Given the description of an element on the screen output the (x, y) to click on. 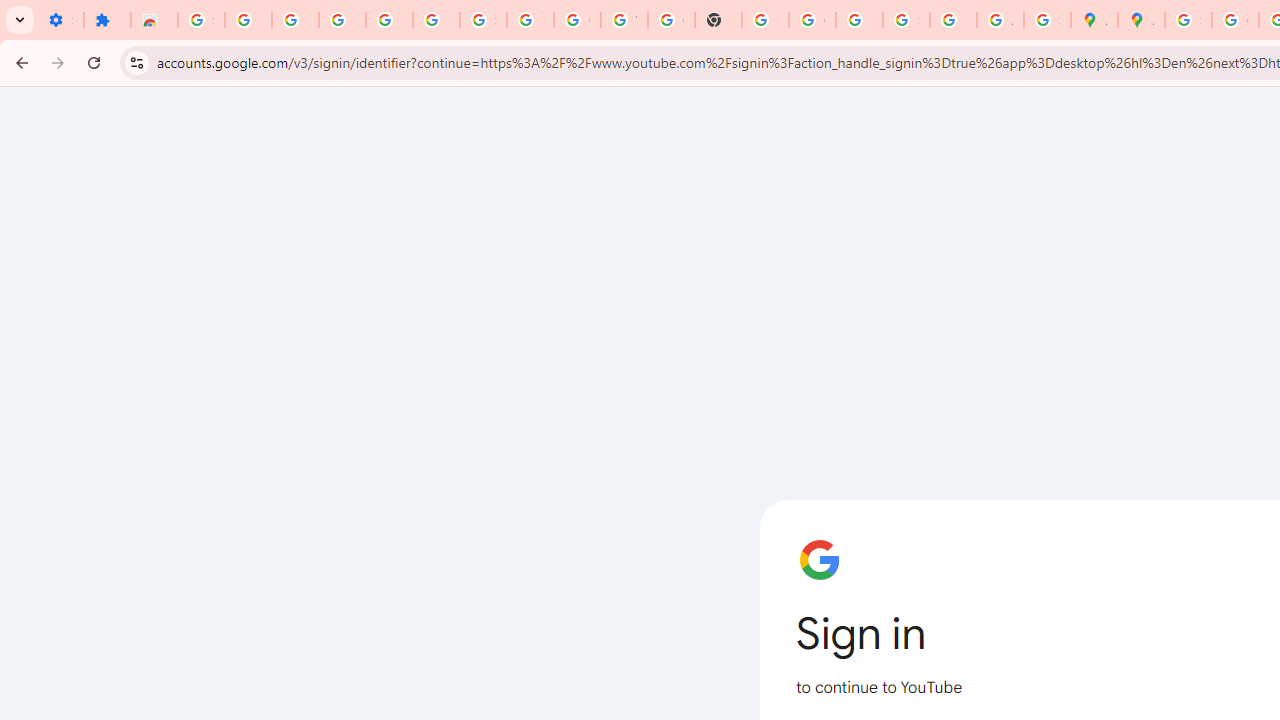
Sign in - Google Accounts (201, 20)
New Tab (718, 20)
Sign in - Google Accounts (482, 20)
Delete photos & videos - Computer - Google Photos Help (342, 20)
Sign in - Google Accounts (1188, 20)
Extensions (107, 20)
